Given the description of an element on the screen output the (x, y) to click on. 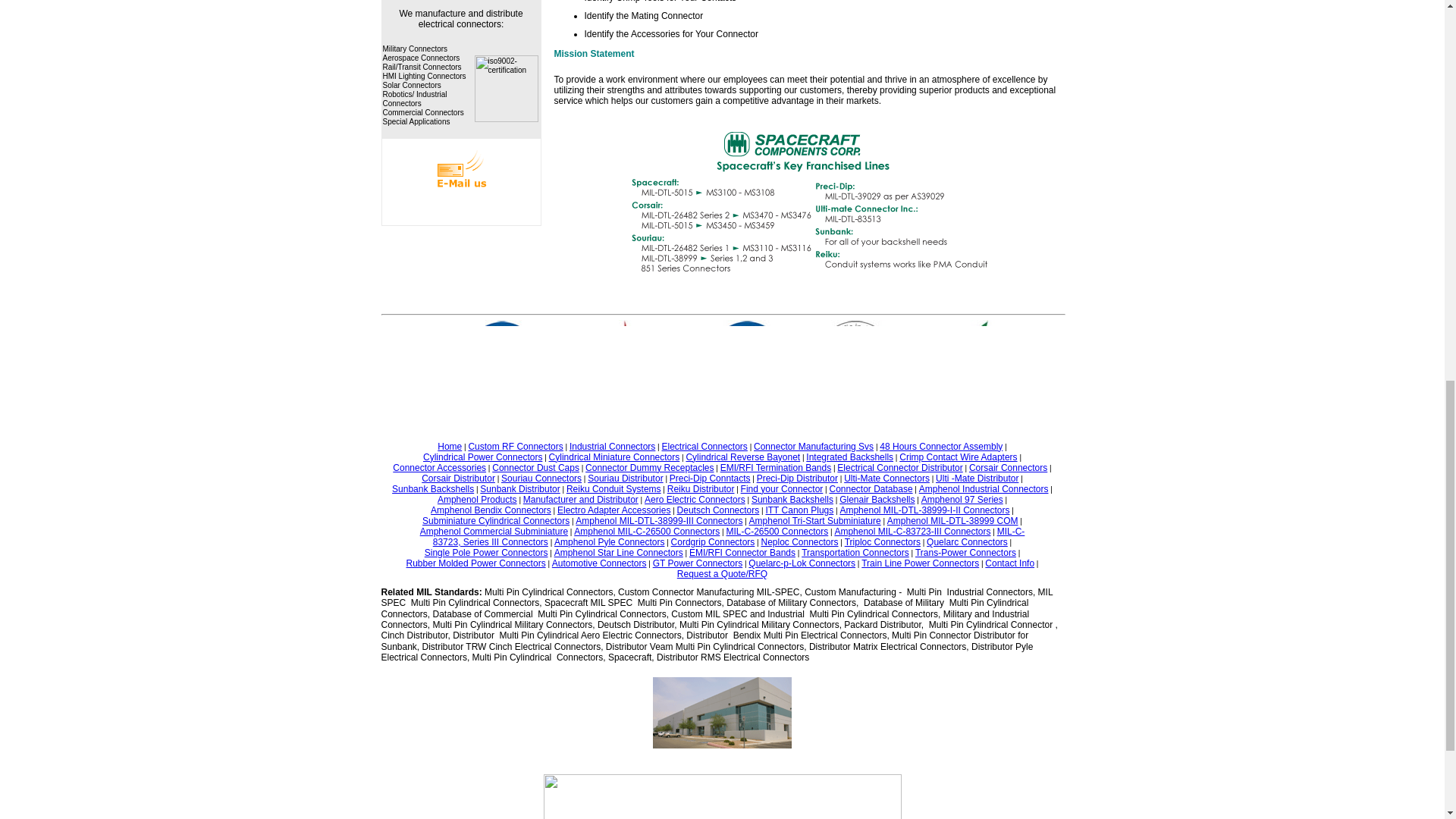
Cylindrical Reverse Bayonet (742, 457)
Connector Accessories (439, 467)
Connector Manufacturing Svs (813, 446)
Custom RF Connectors (514, 446)
Industrial Connectors (612, 446)
Home (449, 446)
Electrical Connectors (703, 446)
48 Hours Connector Assembly (941, 446)
Integrated Backshells (849, 457)
Cylindrical Miniature Connectors (613, 457)
Cylindrical Power Connectors (482, 457)
Crimp Contact Wire Adapters (957, 457)
